Given the description of an element on the screen output the (x, y) to click on. 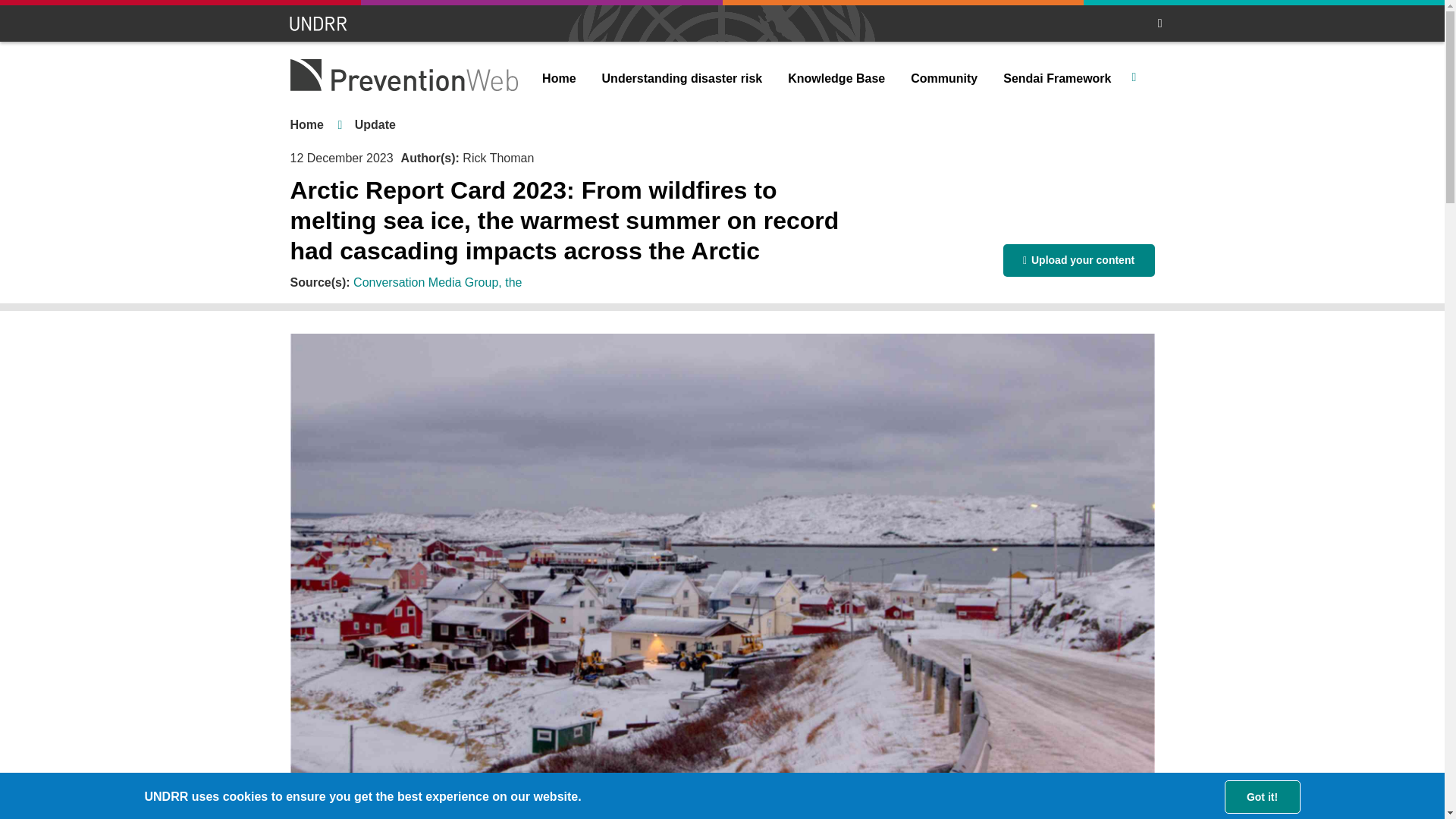
Community (944, 78)
UNDRR Homepage (319, 23)
Understanding disaster risk (682, 78)
Home (558, 78)
Sendai Framework (1057, 78)
Knowledge Base (836, 78)
Conversation Media Group, the (437, 282)
Home (306, 124)
PreventionWeb Logo (402, 74)
Upload your content (1078, 260)
Update (375, 124)
